Given the description of an element on the screen output the (x, y) to click on. 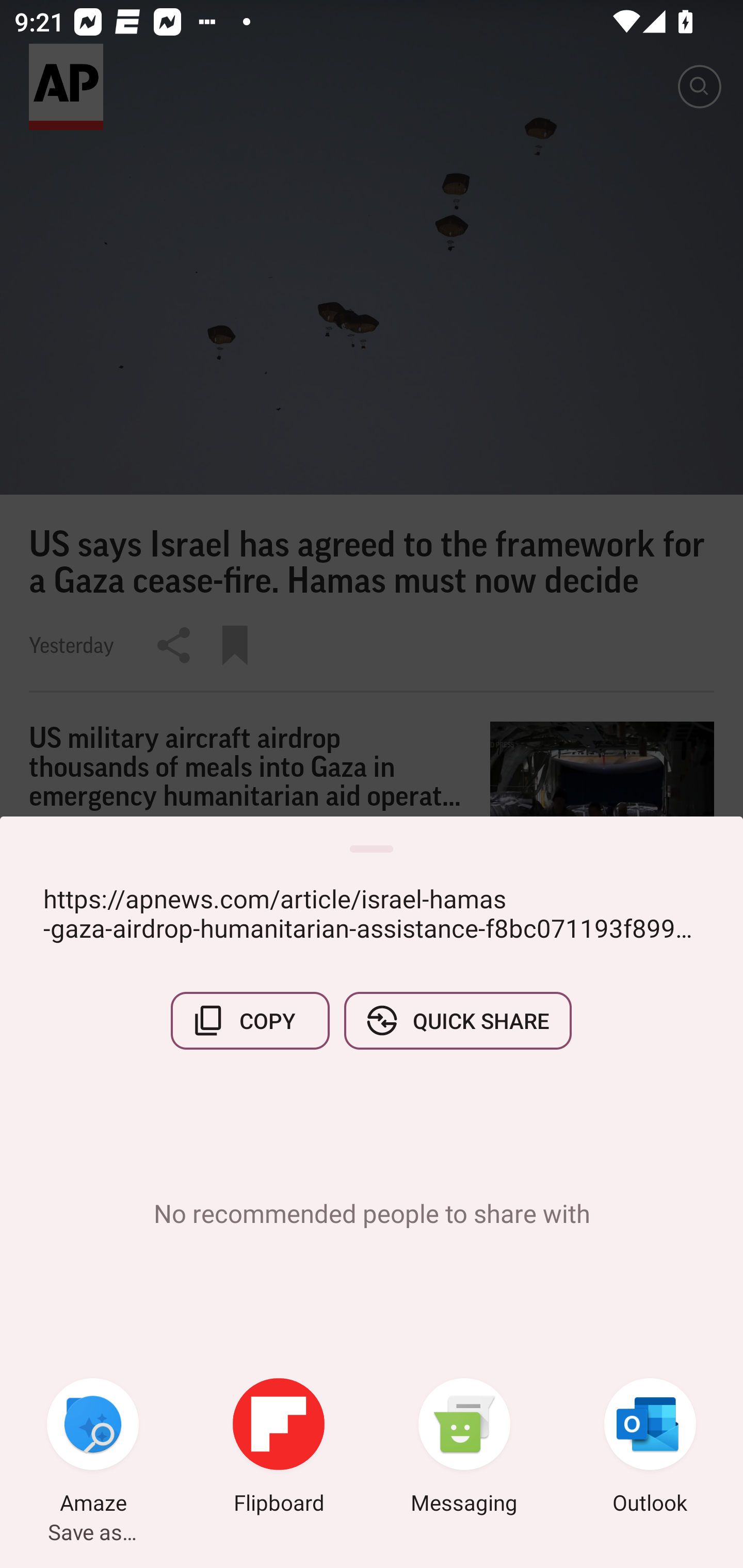
COPY (249, 1020)
QUICK SHARE (457, 1020)
Amaze Save as… (92, 1448)
Flipboard (278, 1448)
Messaging (464, 1448)
Outlook (650, 1448)
